Given the description of an element on the screen output the (x, y) to click on. 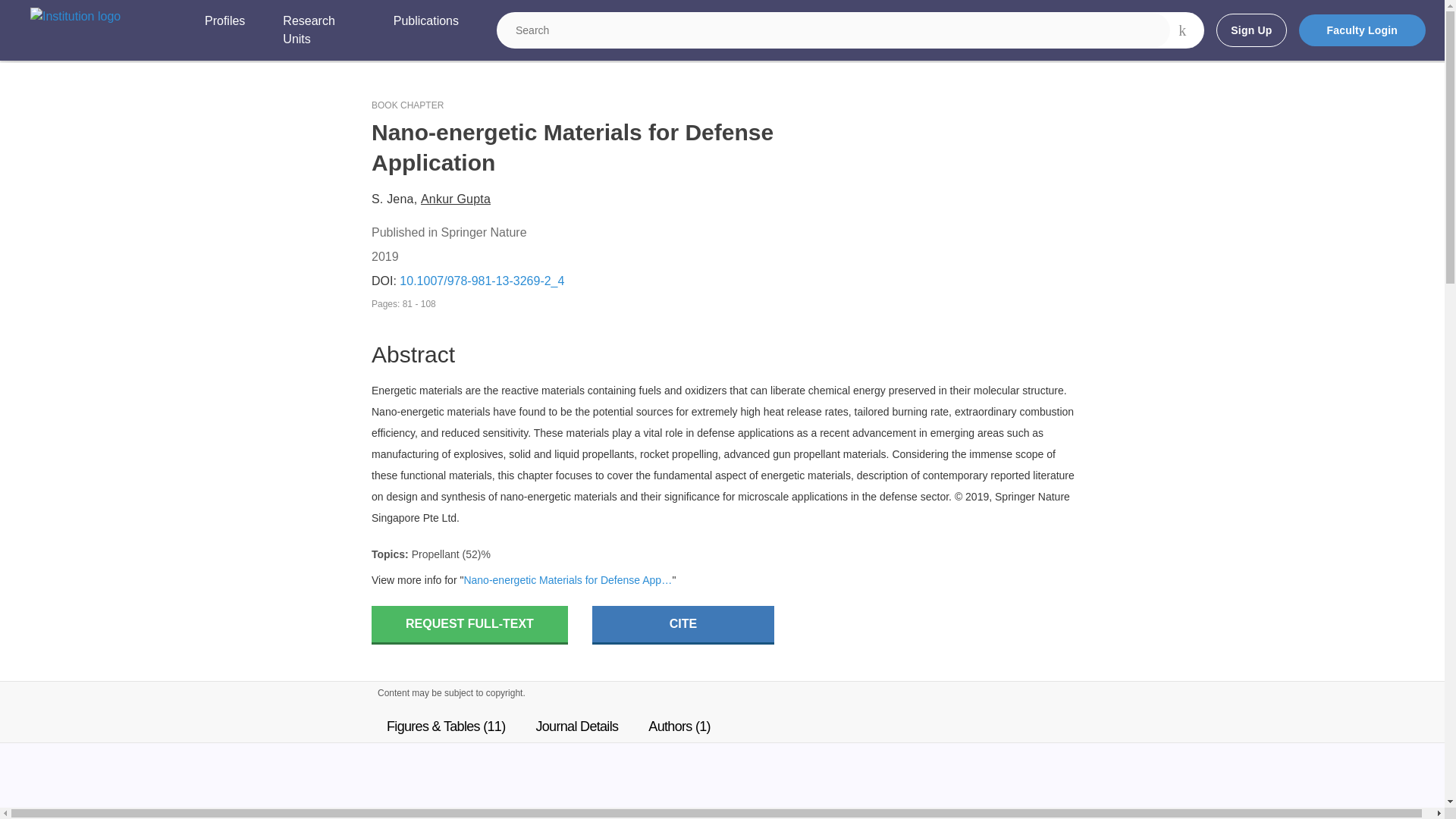
Research Units (318, 30)
CITE (683, 625)
Publications (425, 30)
Faculty Login (1361, 29)
Institution logo (75, 16)
Ankur Gupta (455, 198)
Journal Details (576, 726)
Nano-energetic Materials for Defense Application (567, 580)
Profiles (224, 30)
REQUEST FULL-TEXT (469, 625)
